Given the description of an element on the screen output the (x, y) to click on. 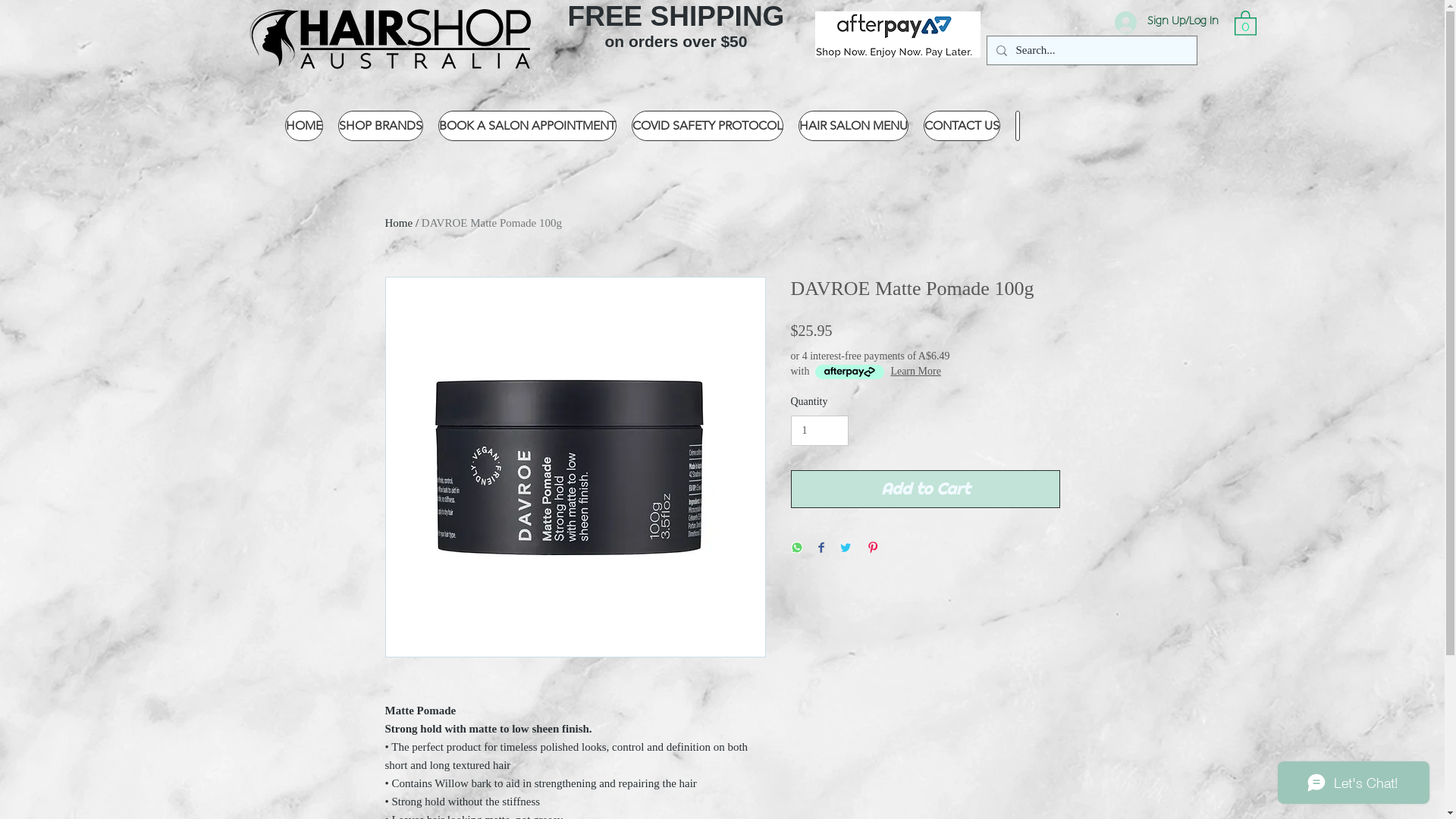
0 Element type: text (1245, 22)
Sign Up/Log In Element type: text (1166, 21)
HOME Element type: text (304, 125)
CONTACT US Element type: text (961, 125)
Learn More Element type: text (915, 371)
HAIR SALON MENU Element type: text (852, 125)
COVID SAFETY PROTOCOL Element type: text (706, 125)
SHOP BRANDS Element type: text (380, 125)
BOOK A SALON APPOINTMENT Element type: text (527, 125)
Add to Cart Element type: text (924, 489)
DAVROE Matte Pomade 100g Element type: text (491, 222)
Home Element type: text (399, 222)
